Given the description of an element on the screen output the (x, y) to click on. 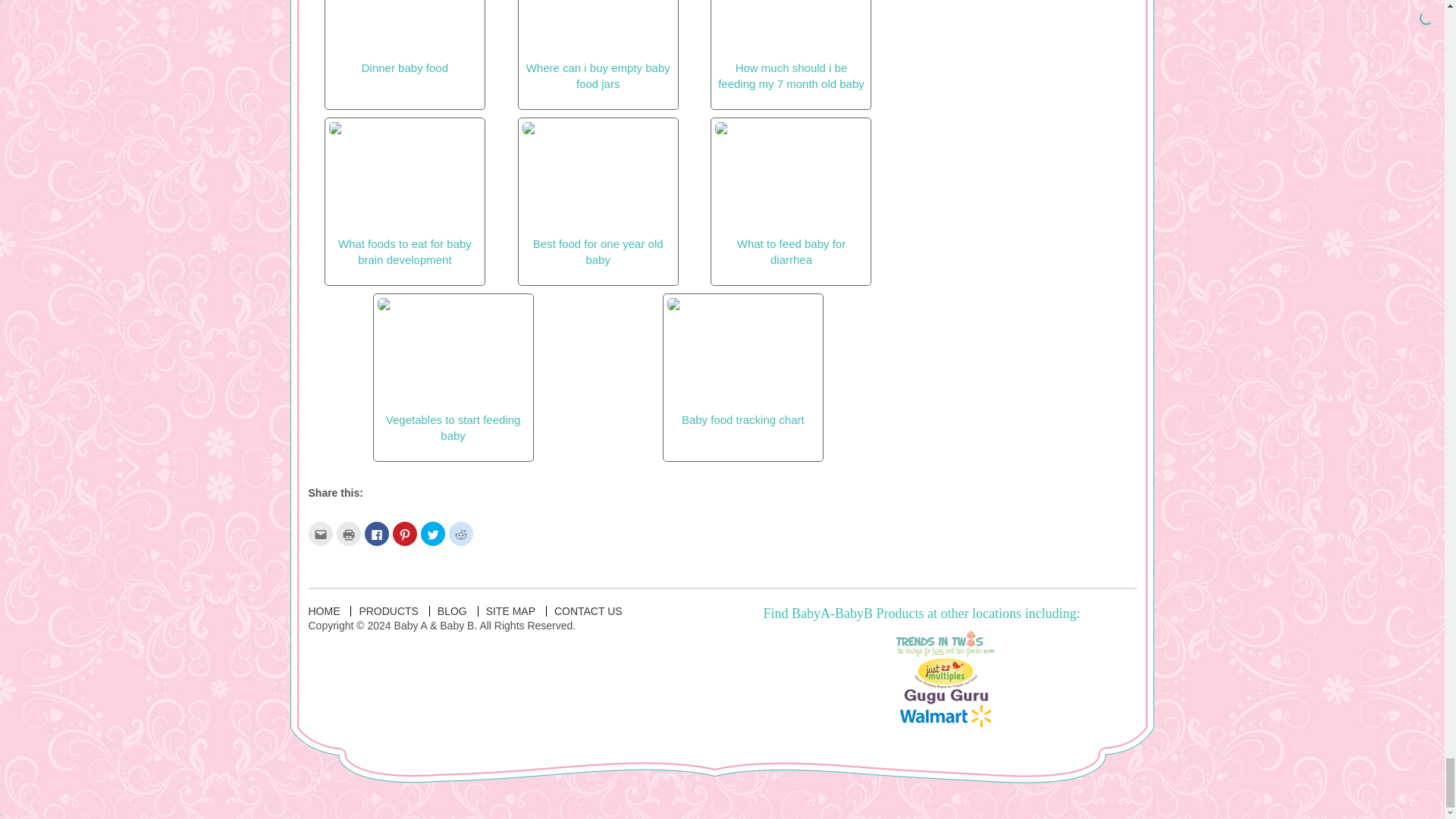
SITE MAP (510, 611)
Vegetables to start feeding baby (453, 370)
What foods to eat for baby brain development (404, 194)
Click to share on Facebook (376, 533)
How much should i be feeding my 7 month old baby (790, 45)
How much should i be feeding my 7 month old baby (790, 45)
What foods to eat for baby brain development (404, 194)
Click to share on Pinterest (404, 533)
Click to email this to a friend (319, 533)
Click to print (348, 533)
Best food for one year old baby (598, 194)
Dinner baby food (404, 37)
What to feed baby for diarrhea (790, 194)
Best food for one year old baby (598, 194)
PRODUCTS (388, 611)
